Given the description of an element on the screen output the (x, y) to click on. 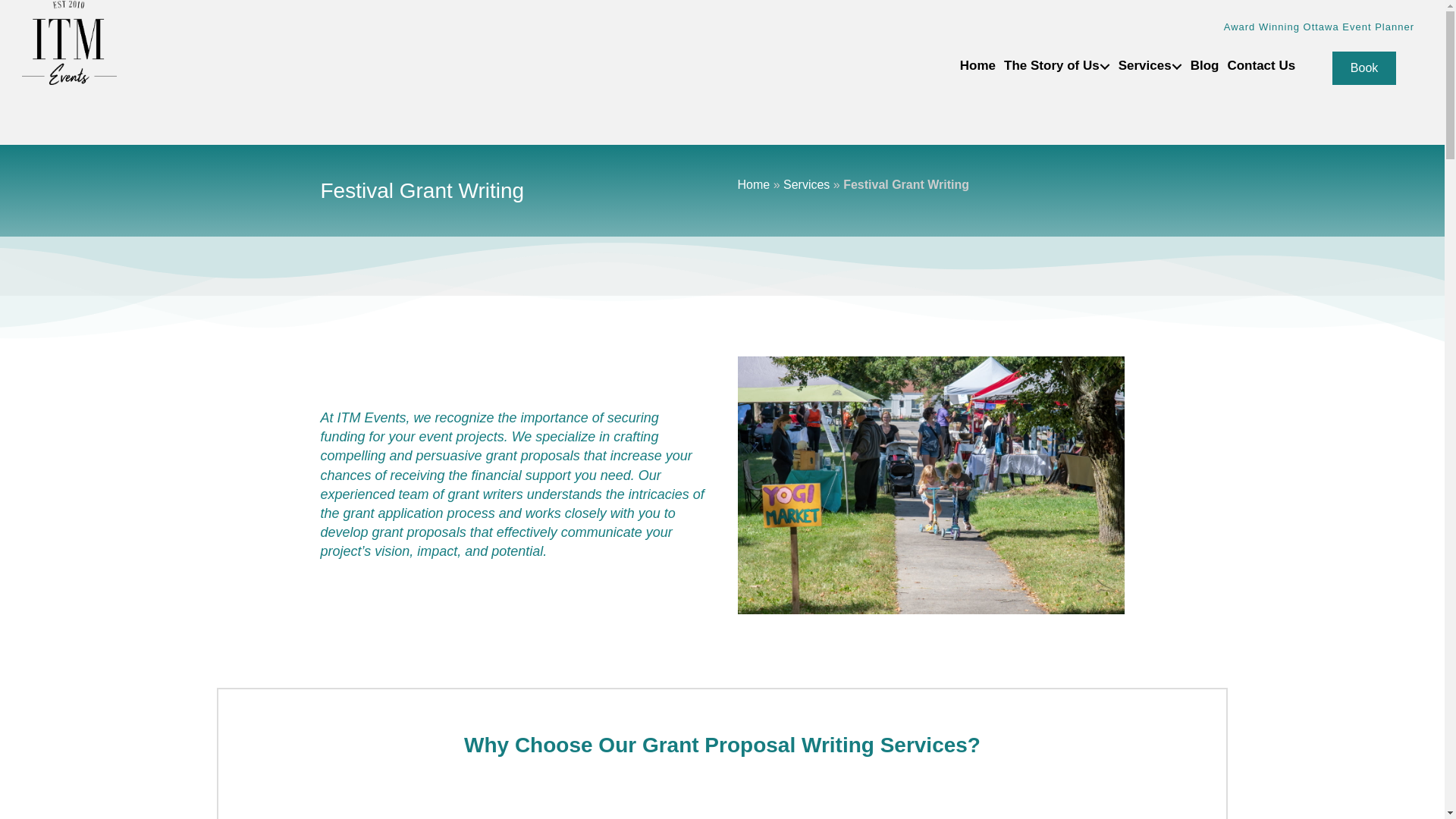
Blog (1201, 65)
Services (1146, 65)
Award Winning Ottawa Event Planner (1318, 26)
itm-logo-png (68, 42)
Book (1364, 67)
The Story of Us (1052, 65)
Contact Us (1257, 65)
Home (973, 65)
